Given the description of an element on the screen output the (x, y) to click on. 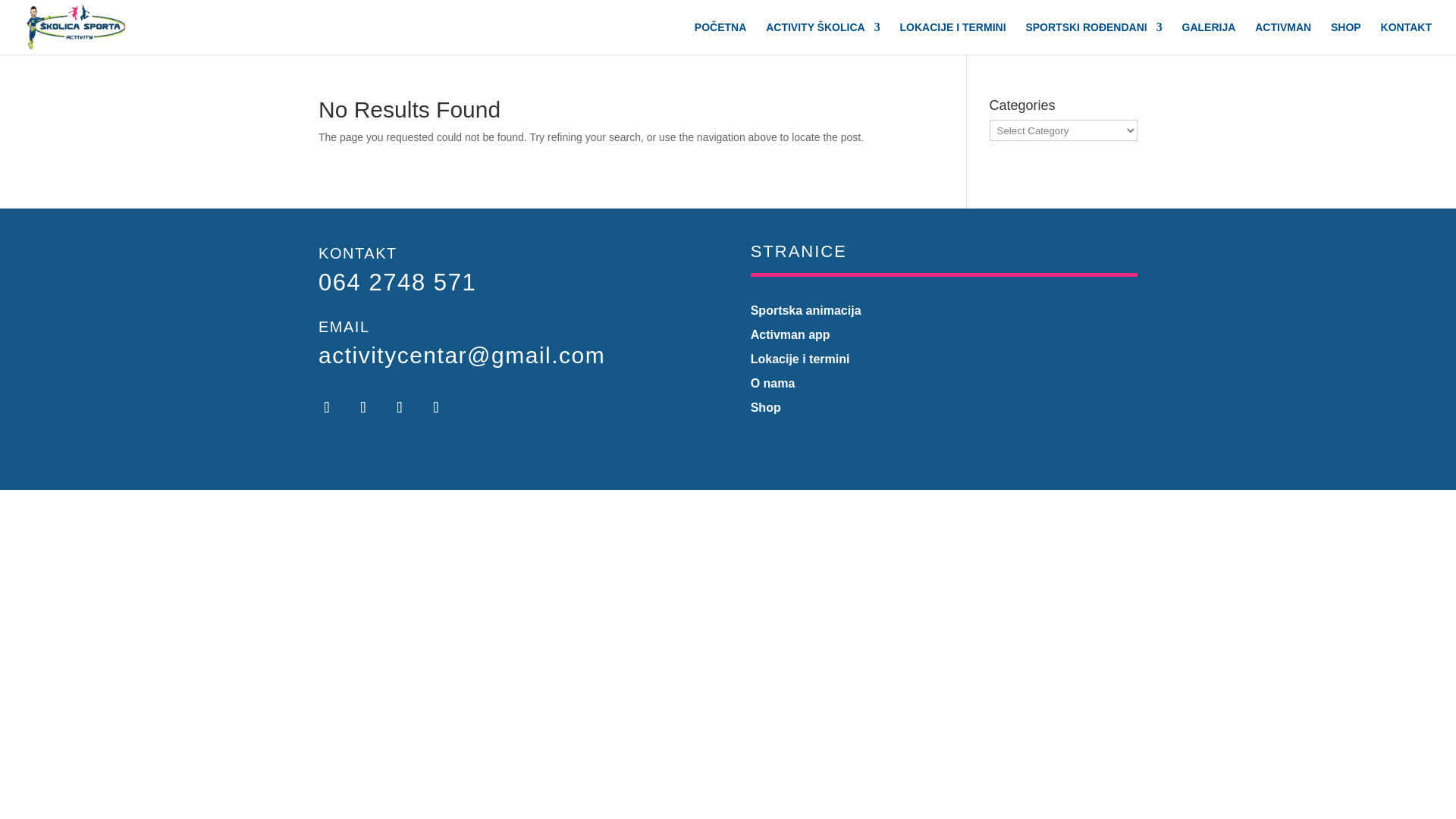
Lokacije i termini (800, 358)
Shop (765, 407)
LOKACIJE I TERMINI (952, 38)
SHOP (1345, 38)
Follow on Facebook (435, 407)
Follow on Youtube (399, 407)
GALERIJA (1209, 38)
Follow on Instagram (326, 407)
Follow on TikTok (362, 407)
Sportska animacija (806, 309)
Activman app (790, 334)
KONTAKT (1405, 38)
O nama (772, 382)
ACTIVMAN (1283, 38)
